Given the description of an element on the screen output the (x, y) to click on. 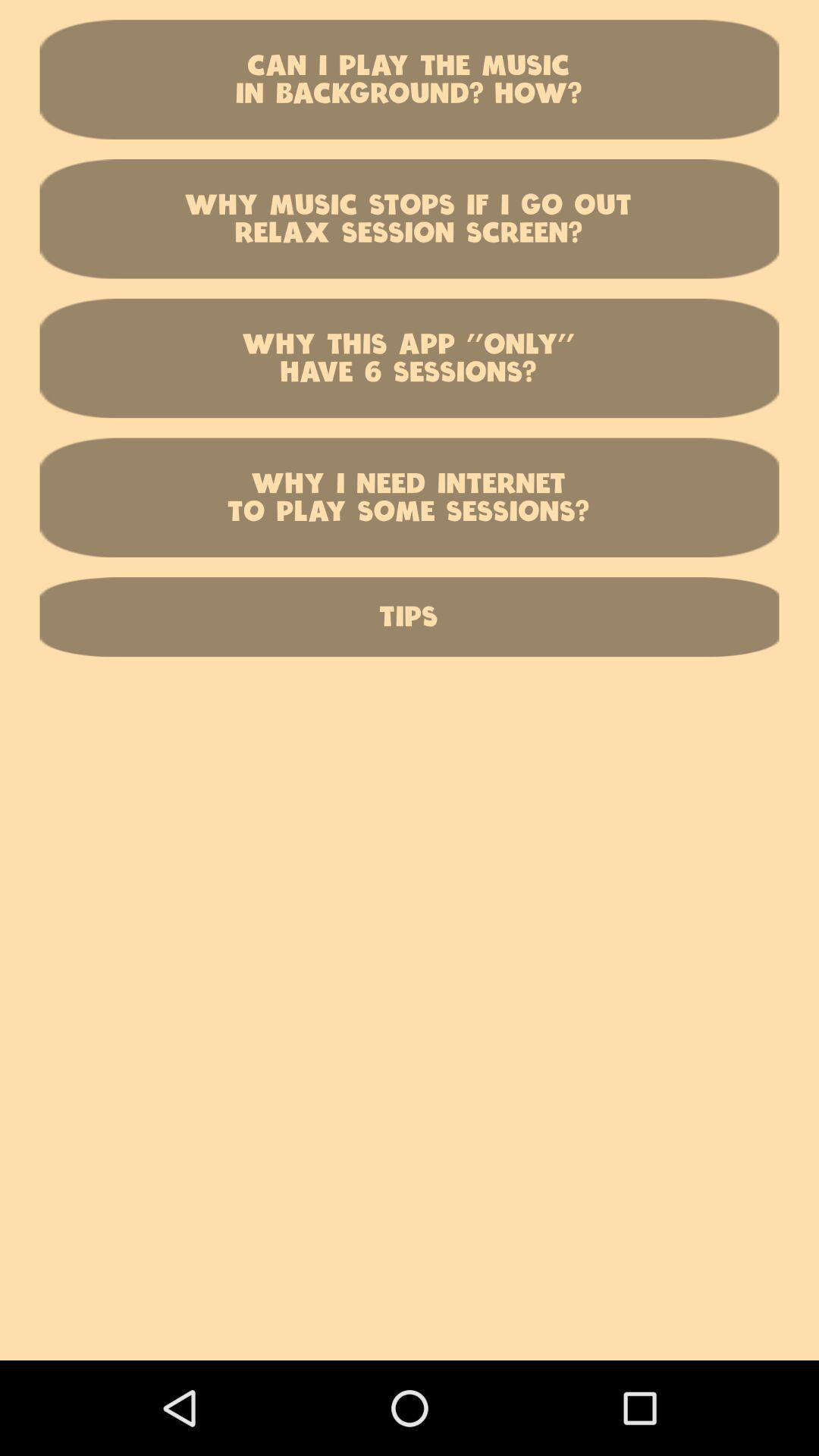
tap the item below the can i play item (409, 218)
